Given the description of an element on the screen output the (x, y) to click on. 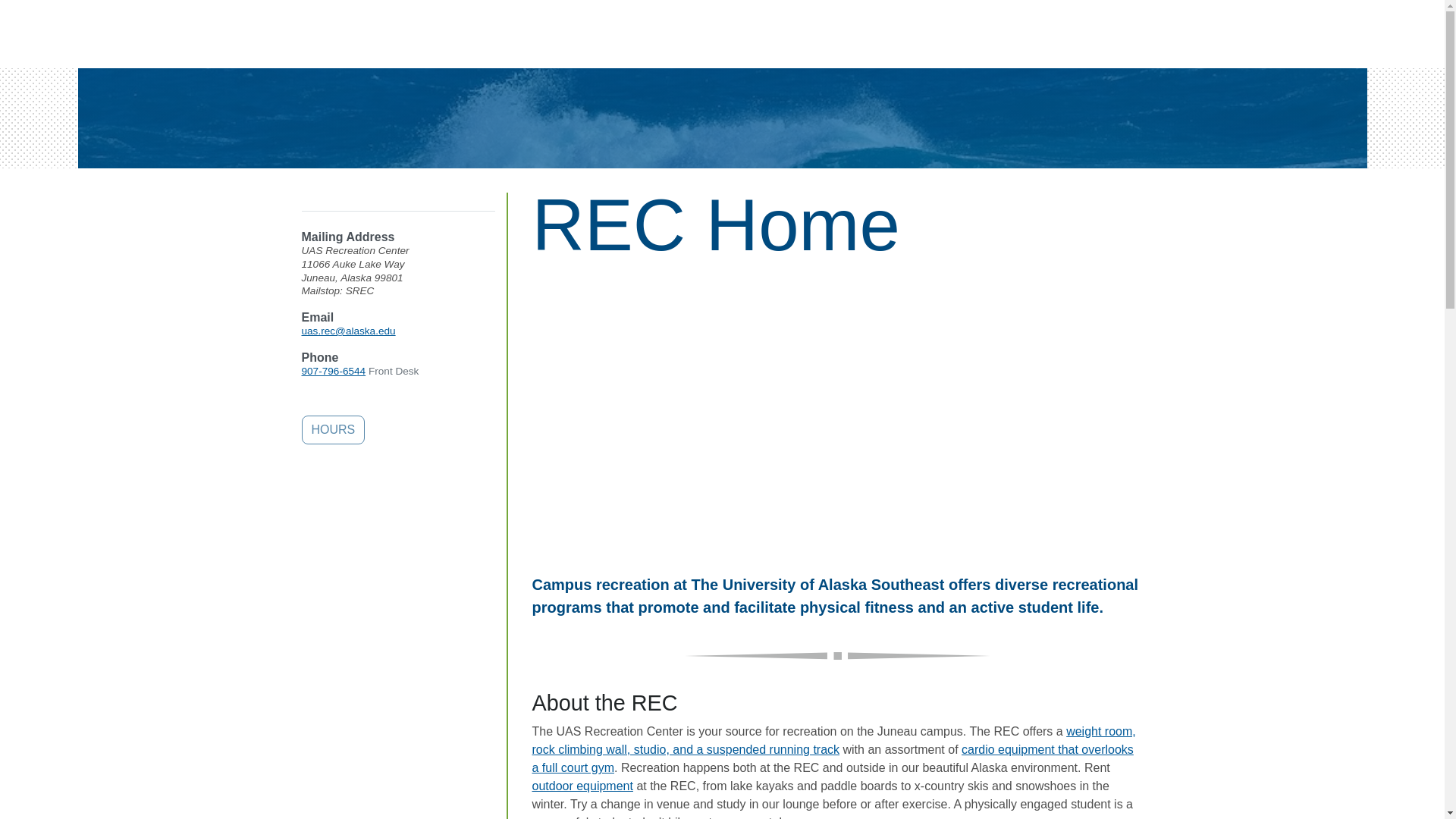
HOURS (333, 429)
907-796-6544 (333, 370)
cardio equipment that overlooks a full court gym (833, 757)
outdoor equipment (582, 785)
Skip to Main Content (66, 15)
